Given the description of an element on the screen output the (x, y) to click on. 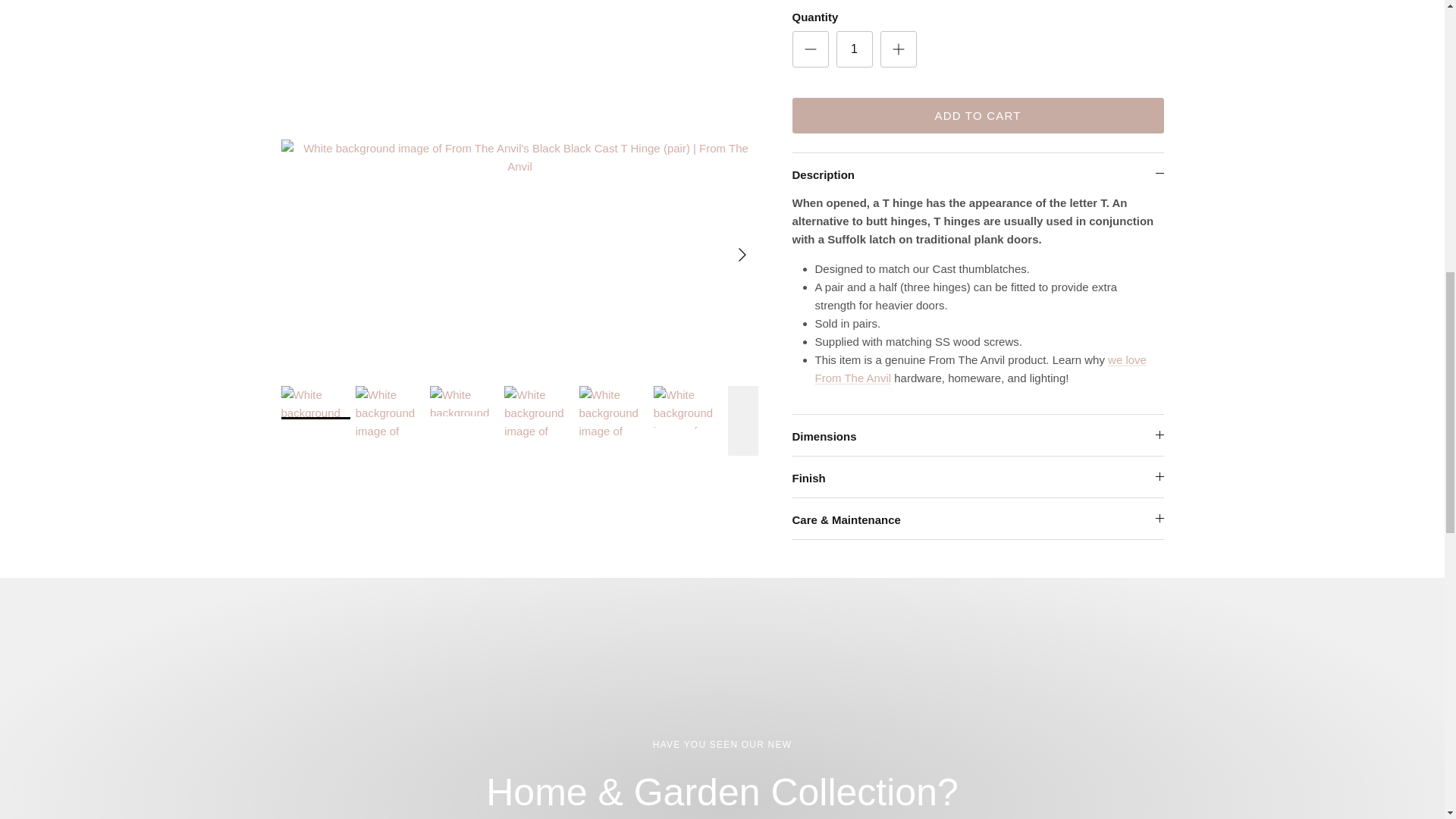
Plus (897, 11)
1 (853, 14)
Minus (809, 11)
